Given the description of an element on the screen output the (x, y) to click on. 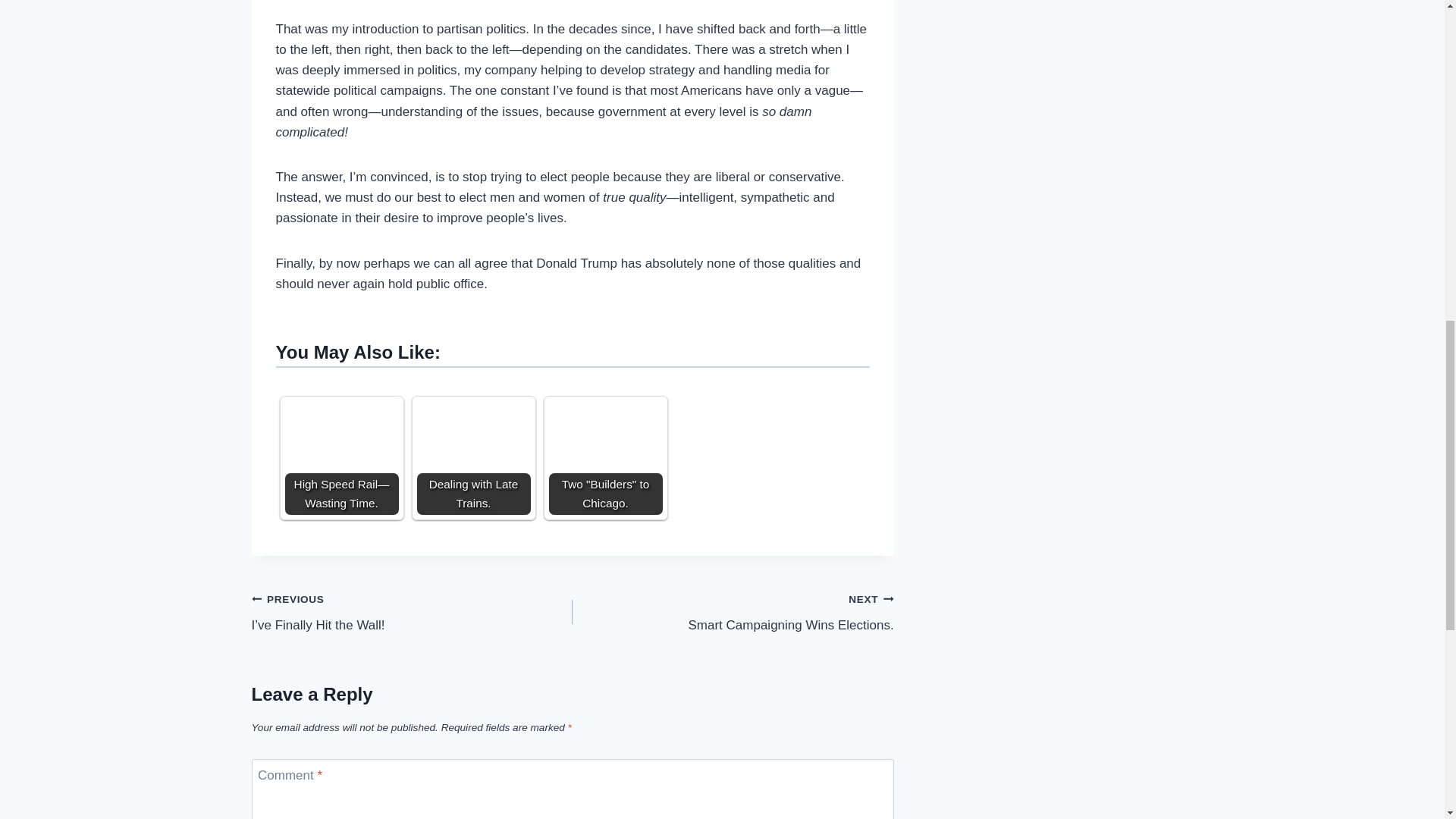
Dealing with Late Trains. (473, 458)
Dealing with Late Trains. (473, 458)
Two "Builders" to Chicago. (605, 451)
Two "Builders" to Chicago. (732, 612)
